Given the description of an element on the screen output the (x, y) to click on. 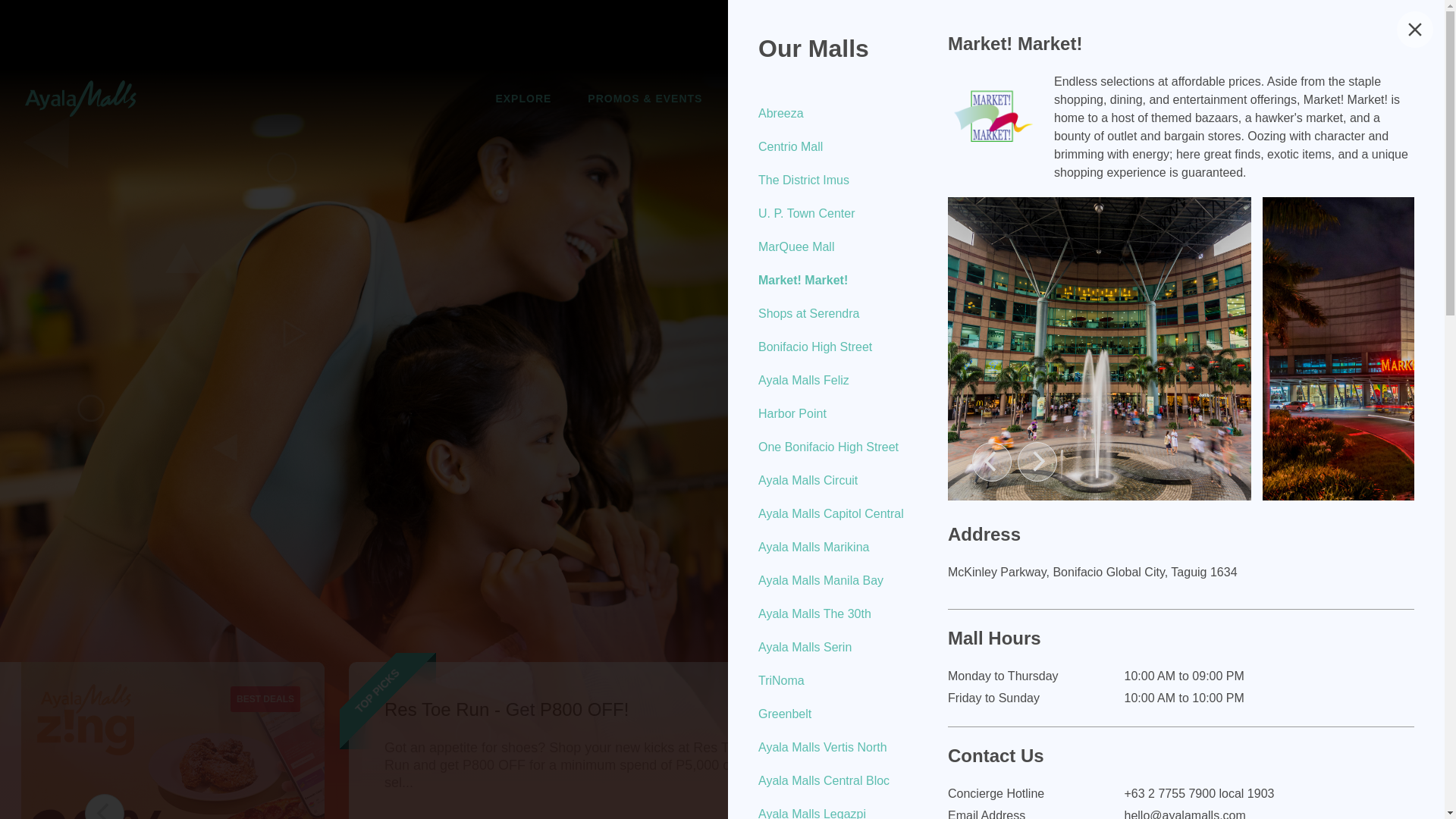
Advertisement (727, 33)
SIGN-UP NOW! (1338, 98)
CINEMAS (765, 97)
EXPLORE (523, 97)
MORE (943, 97)
REWARDS (859, 97)
